Given the description of an element on the screen output the (x, y) to click on. 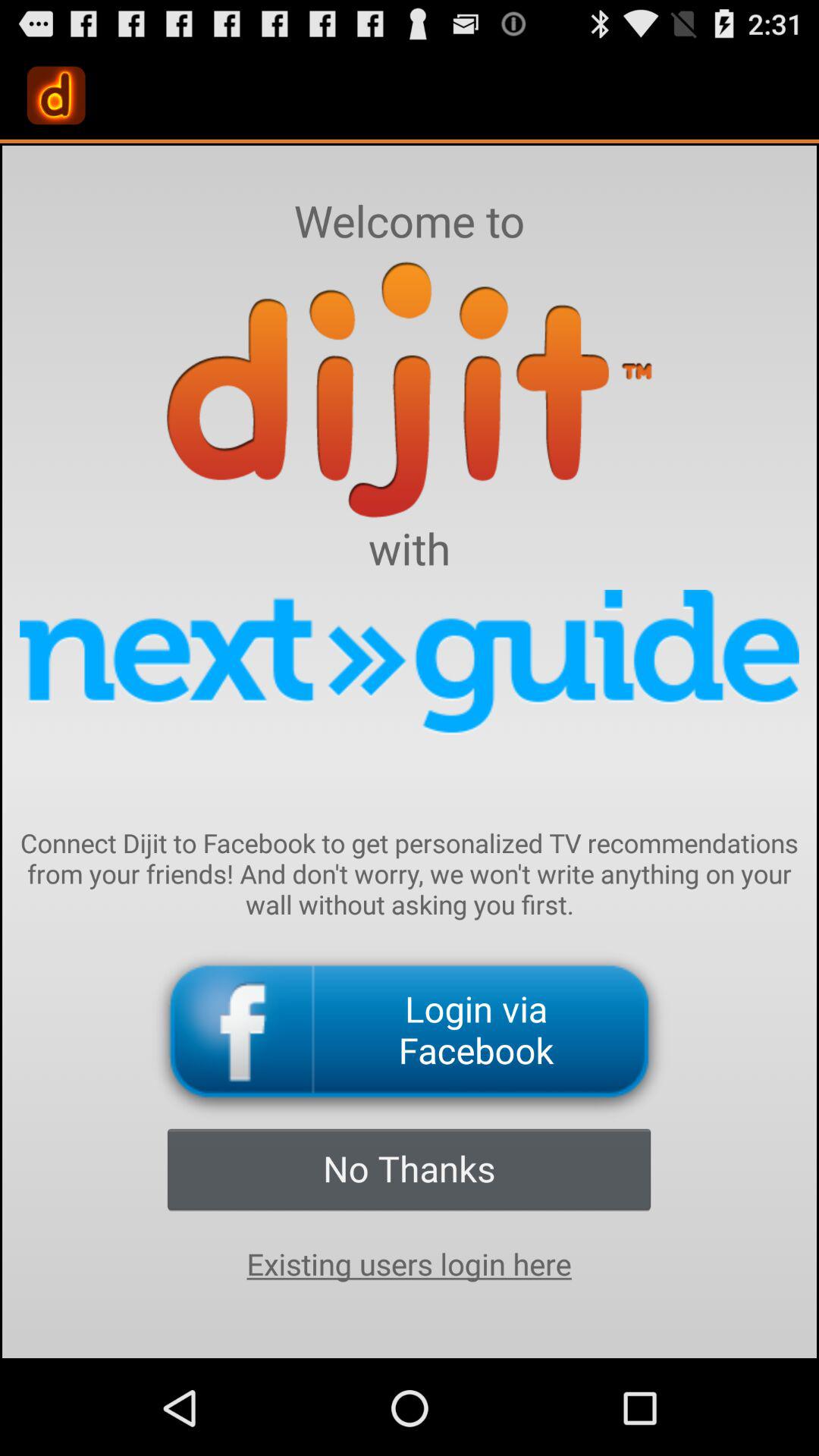
tap existing users login (409, 1264)
